Given the description of an element on the screen output the (x, y) to click on. 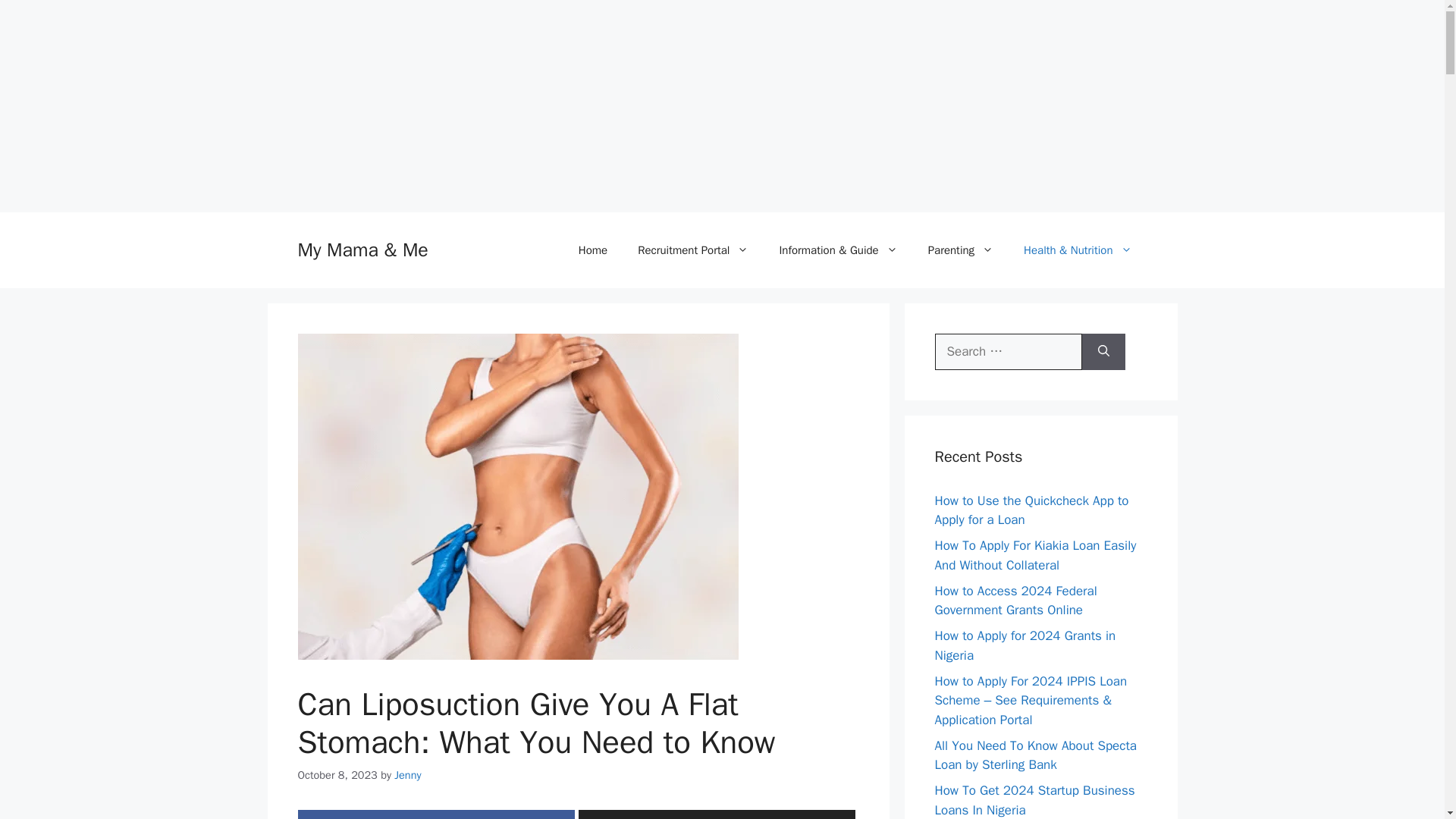
How to Apply for 2024 Grants in Nigeria (1024, 645)
How To Get 2024 Startup Business Loans In Nigeria (1034, 800)
Search for: (1007, 351)
Recruitment Portal (692, 249)
How To Apply For Kiakia Loan Easily And Without Collateral (1034, 555)
Parenting (960, 249)
All You Need To Know About Specta Loan by Sterling Bank (1035, 755)
Jenny (407, 775)
View all posts by Jenny (407, 775)
